Given the description of an element on the screen output the (x, y) to click on. 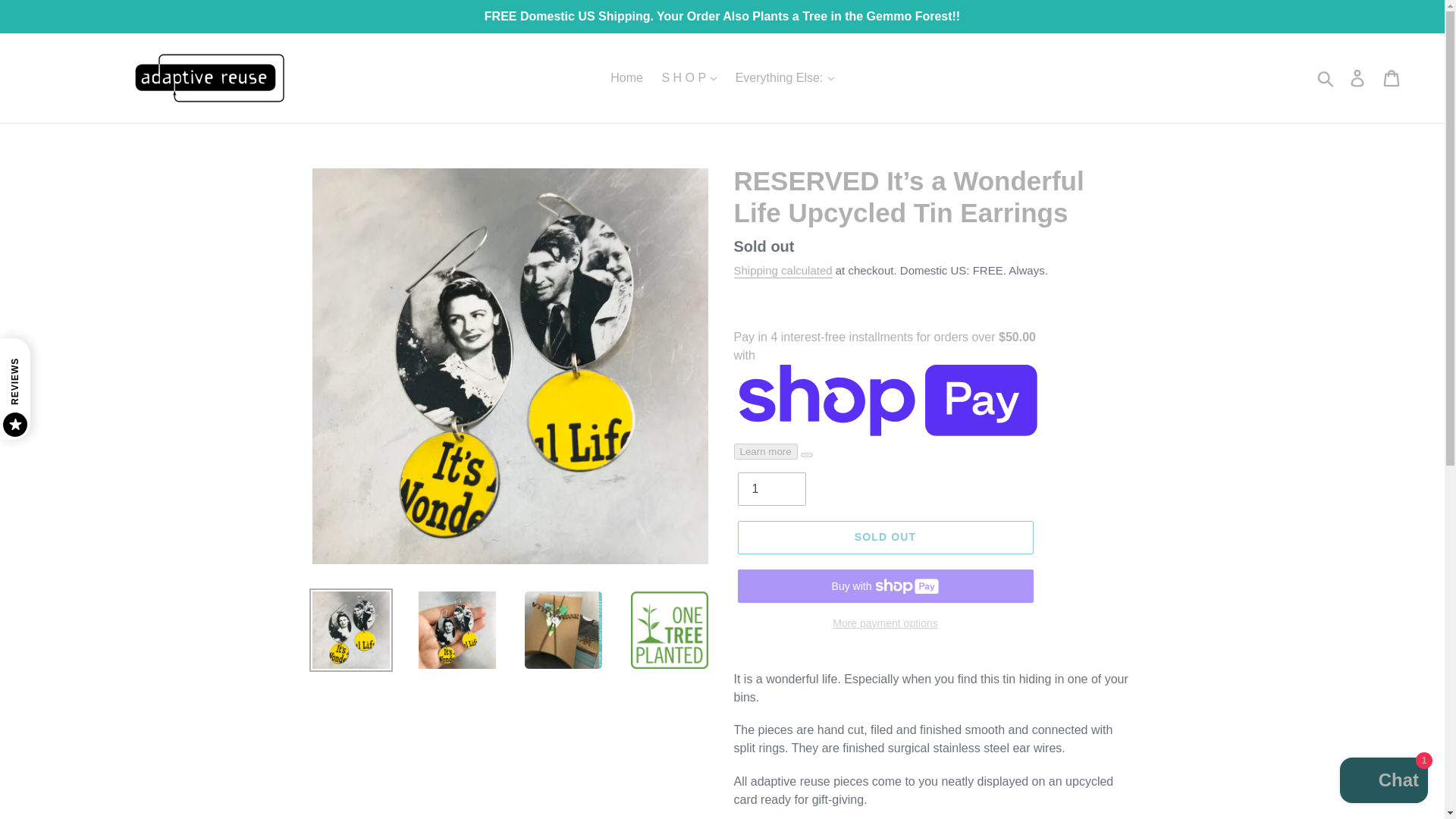
Cart (1392, 78)
Submit (1326, 78)
Log in (1357, 78)
Shopify online store chat (1383, 781)
1 (770, 489)
Home (626, 77)
